Given the description of an element on the screen output the (x, y) to click on. 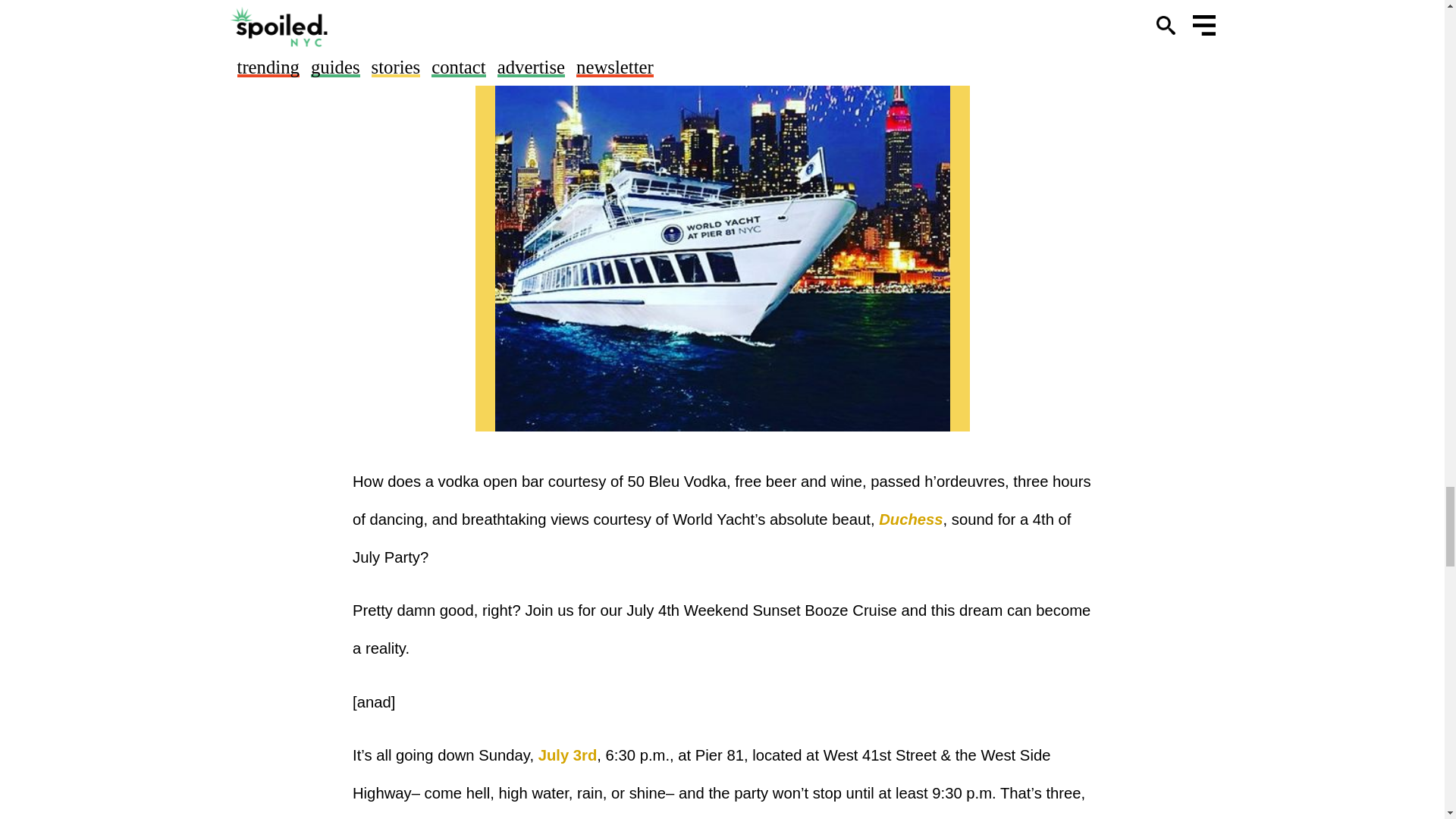
Duchess (910, 519)
July 3rd (567, 754)
